Given the description of an element on the screen output the (x, y) to click on. 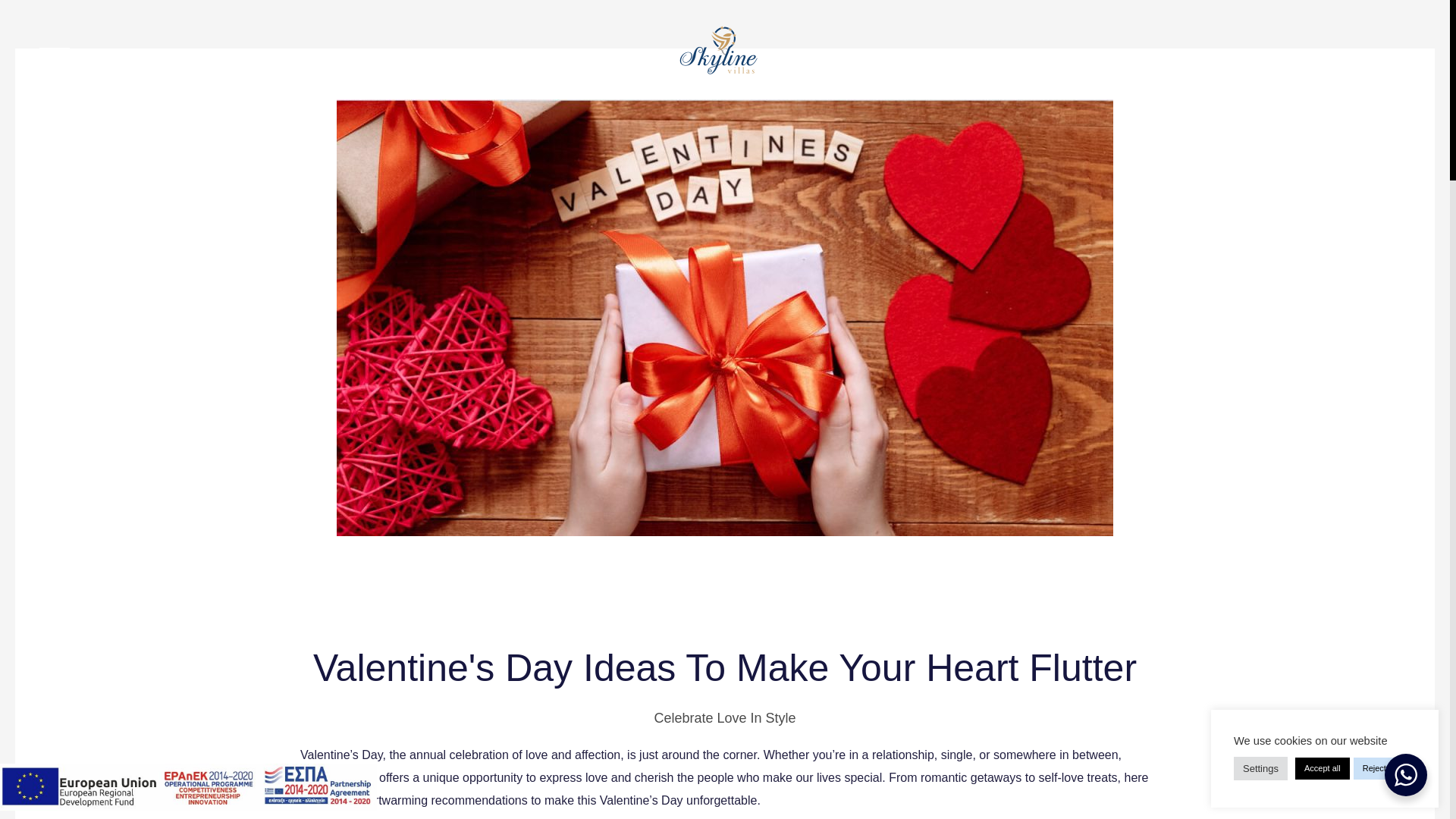
NAXOS ISLAND (177, 511)
EVENTS (164, 458)
BOOK NOW (1360, 65)
EXPLORE THE ISLAND (215, 549)
LOCATION (155, 602)
GALLERY (152, 709)
ABOUT NAXOS SKYLINE (206, 253)
GASTRONOMY (188, 344)
DISCOVER IT (1092, 763)
DISCOVER IT (1092, 484)
WELLNESS (174, 382)
Logo (722, 50)
CONTACT (153, 762)
BLOG (138, 655)
MENU (71, 60)
